Given the description of an element on the screen output the (x, y) to click on. 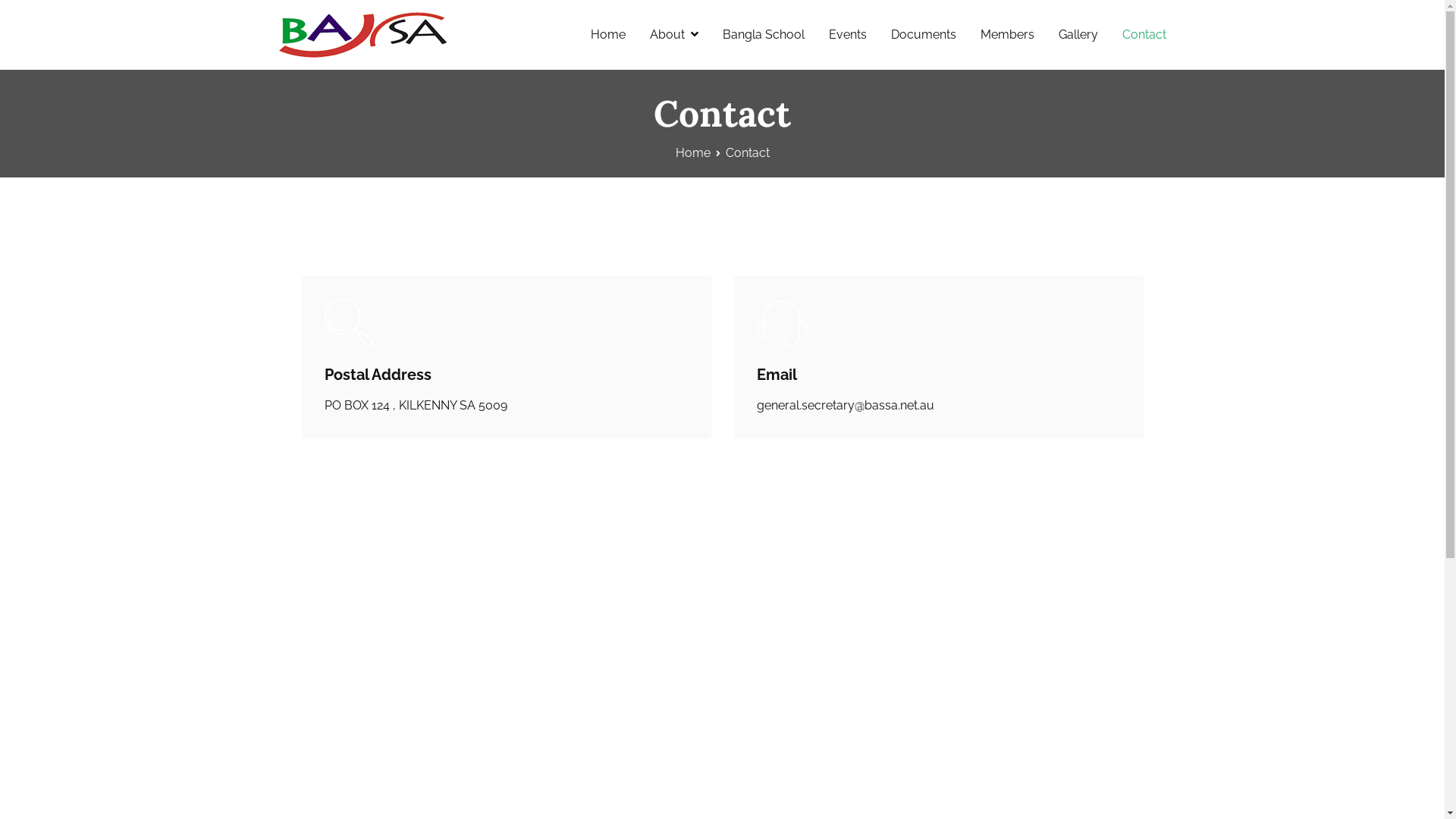
BASSA Element type: text (486, 45)
Home Element type: text (607, 34)
Members Element type: text (1006, 34)
Bangla School Element type: text (762, 34)
Events Element type: text (847, 34)
Documents Element type: text (922, 34)
Home Element type: text (691, 152)
Gallery Element type: text (1078, 34)
About Element type: text (673, 34)
Contact Element type: text (1144, 34)
